Given the description of an element on the screen output the (x, y) to click on. 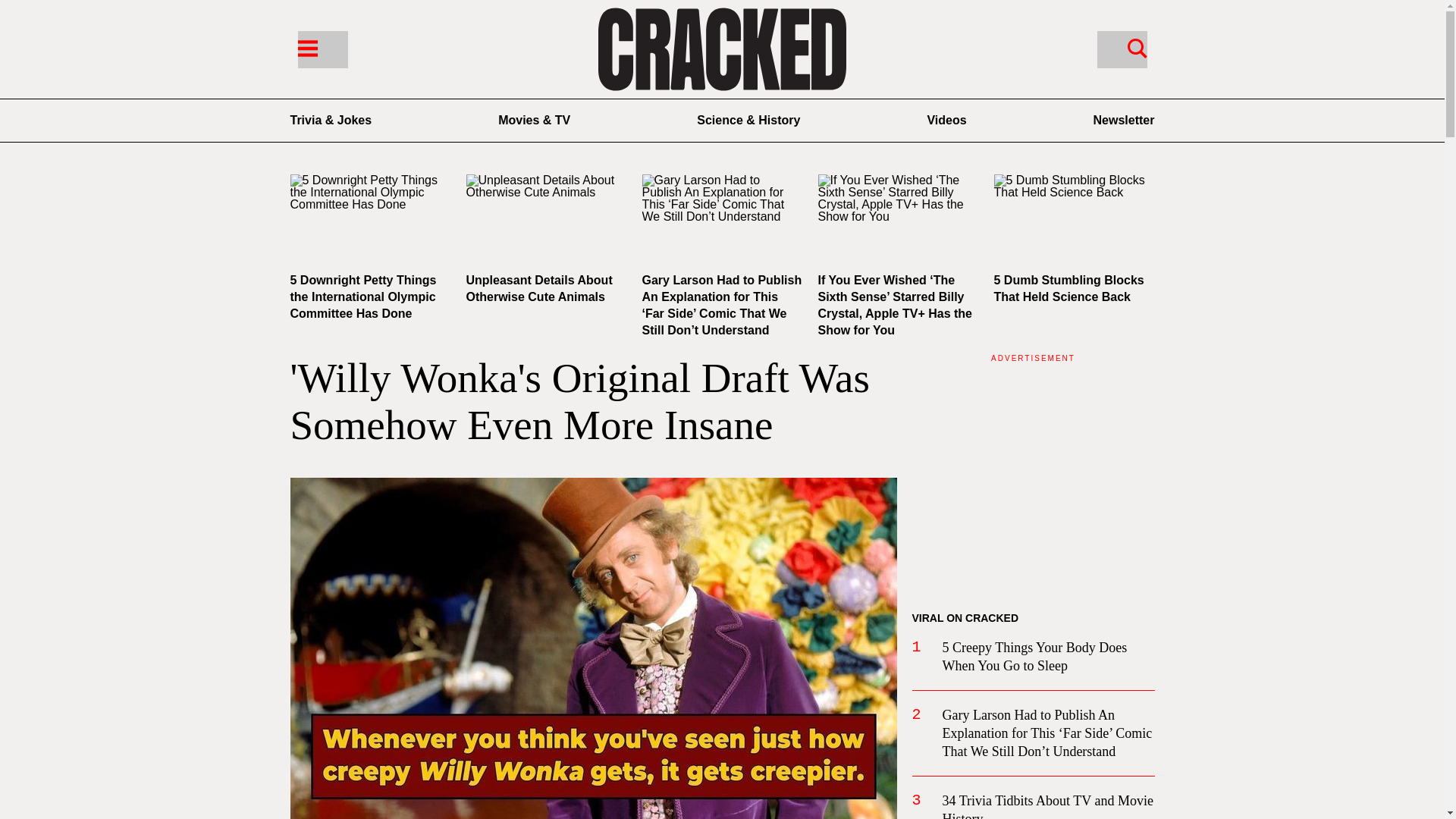
Unpleasant Details About Otherwise Cute Animals (545, 219)
Search (1121, 48)
Videos (946, 119)
5 Dumb Stumbling Blocks That Held Science Back (1067, 288)
Newsletter (1123, 119)
Menu (307, 47)
Search (1136, 47)
Unpleasant Details About Otherwise Cute Animals (538, 288)
Cracked Newsletter (1123, 119)
Menu (322, 48)
Videos (946, 119)
